Given the description of an element on the screen output the (x, y) to click on. 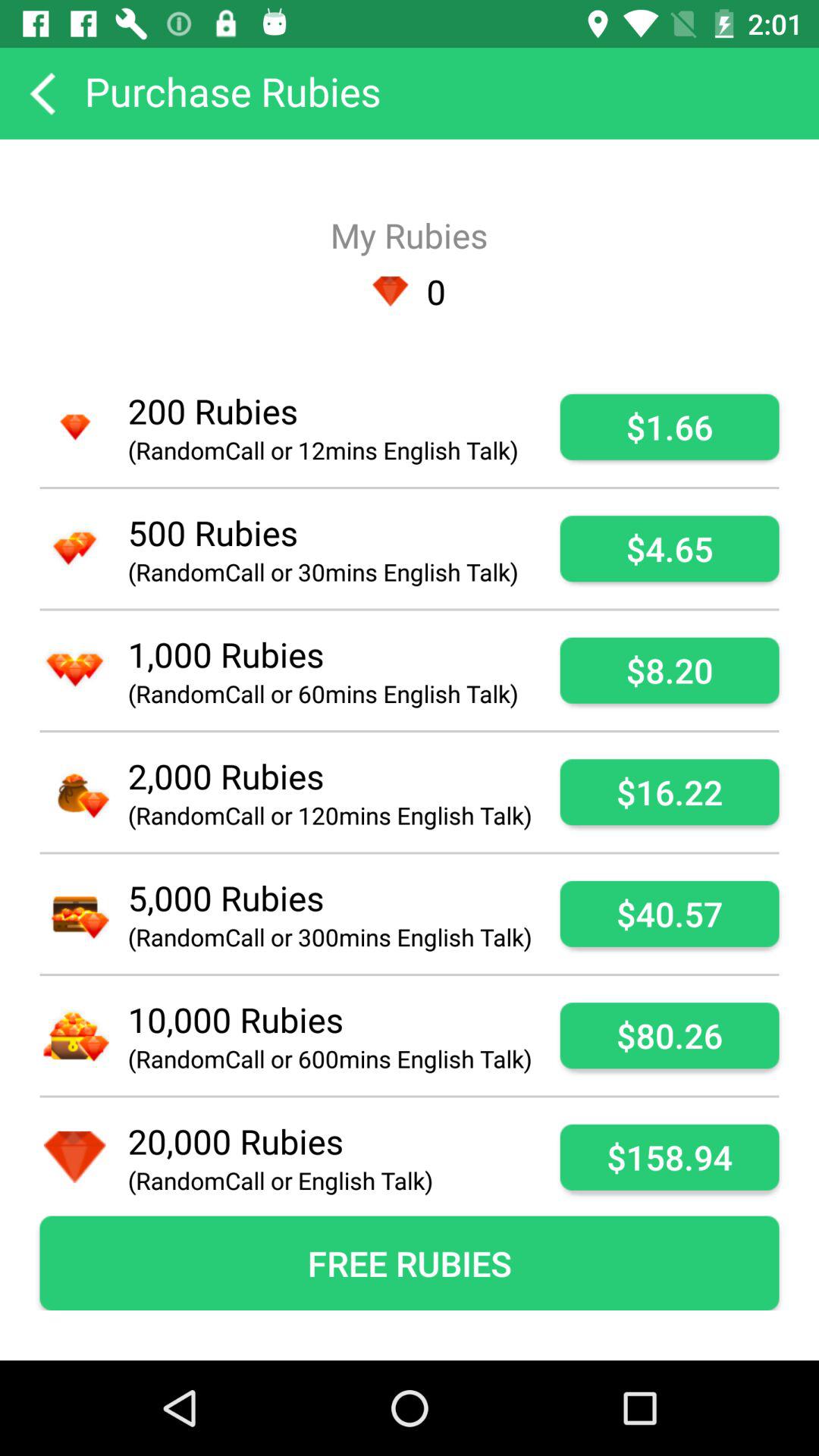
choose the app next to randomcall or 12mins icon (669, 427)
